Given the description of an element on the screen output the (x, y) to click on. 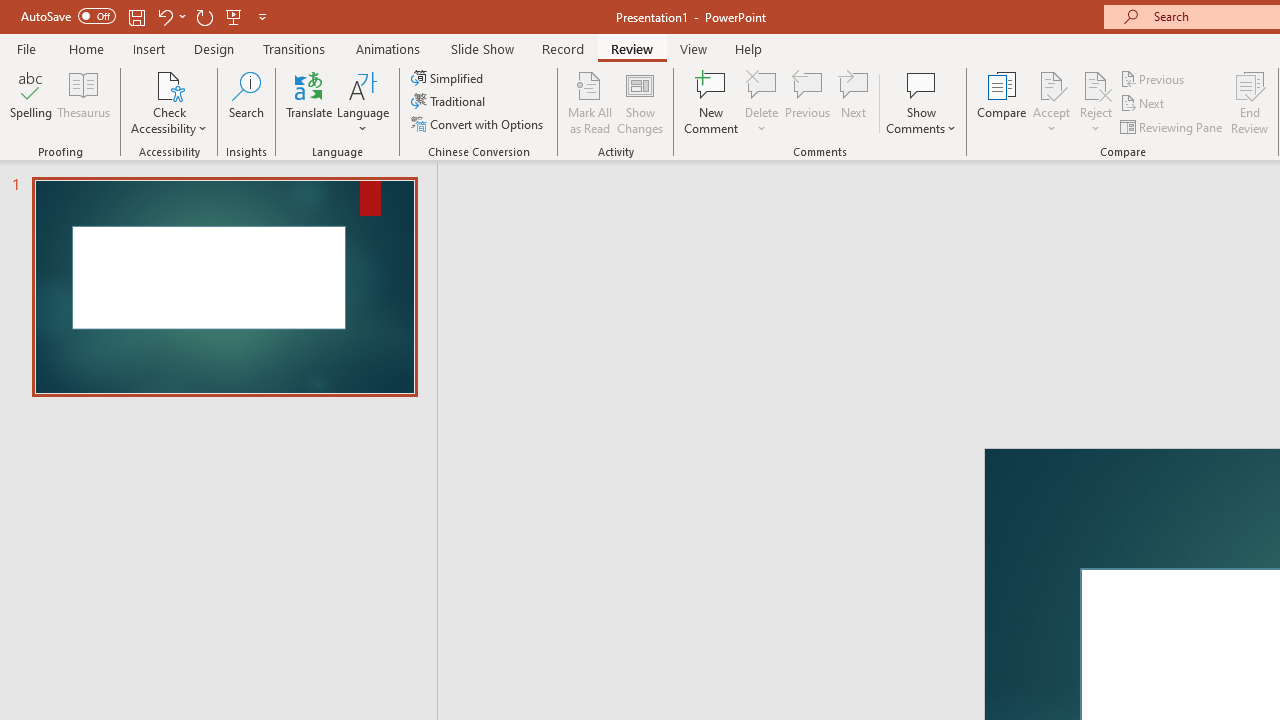
Reviewing Pane (1172, 126)
Reject Change (1096, 84)
Thesaurus... (83, 102)
Spelling... (31, 102)
New Comment (711, 102)
Next (1144, 103)
